Given the description of an element on the screen output the (x, y) to click on. 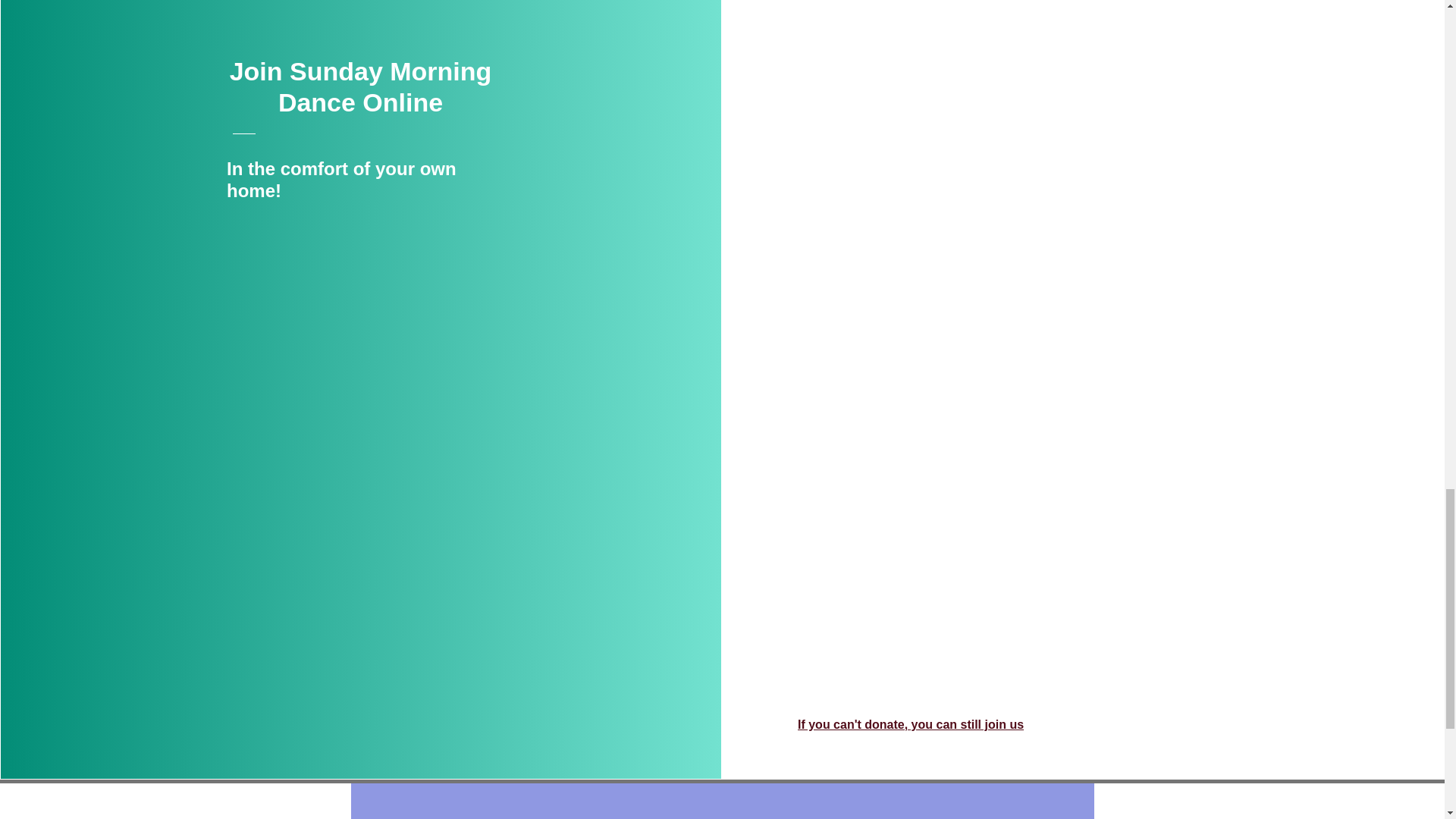
If you can't donate, you can still join us (910, 724)
